Given the description of an element on the screen output the (x, y) to click on. 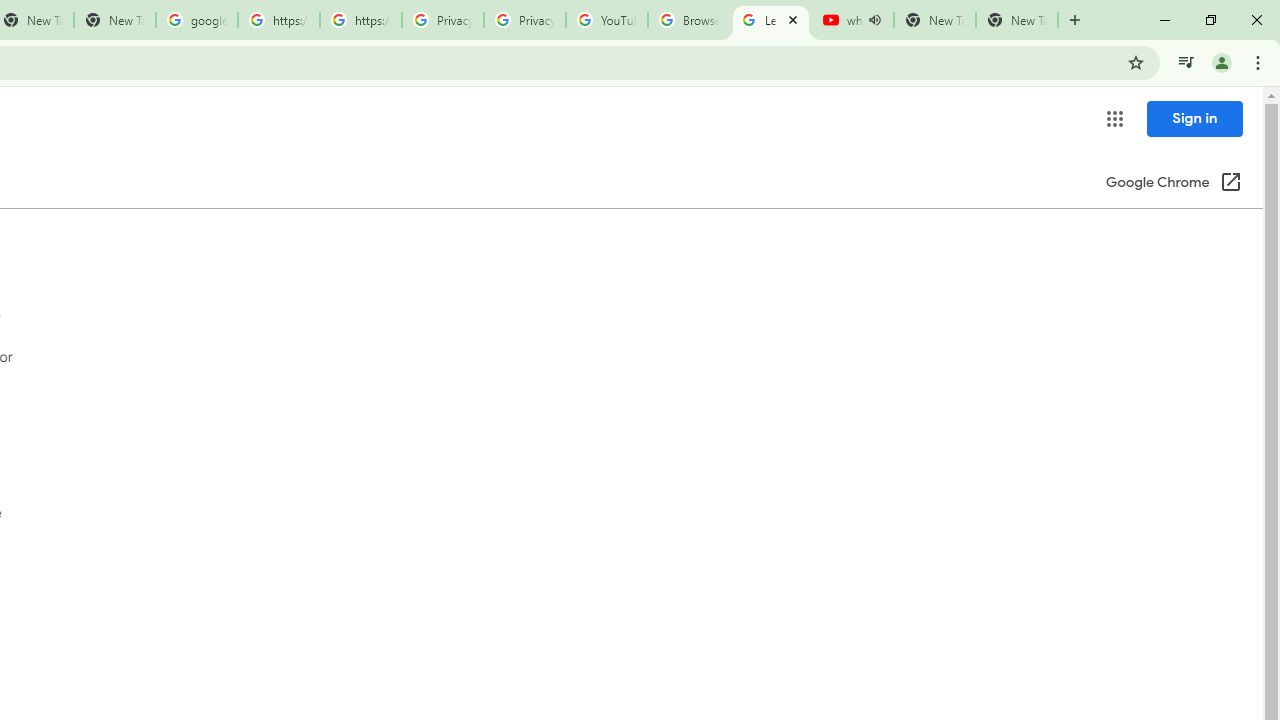
Google Chrome (Open in a new window) (1173, 183)
Browse Chrome as a guest - Computer - Google Chrome Help (688, 20)
https://scholar.google.com/ (278, 20)
New Tab (1016, 20)
Control your music, videos, and more (1185, 62)
https://scholar.google.com/ (360, 20)
